Given the description of an element on the screen output the (x, y) to click on. 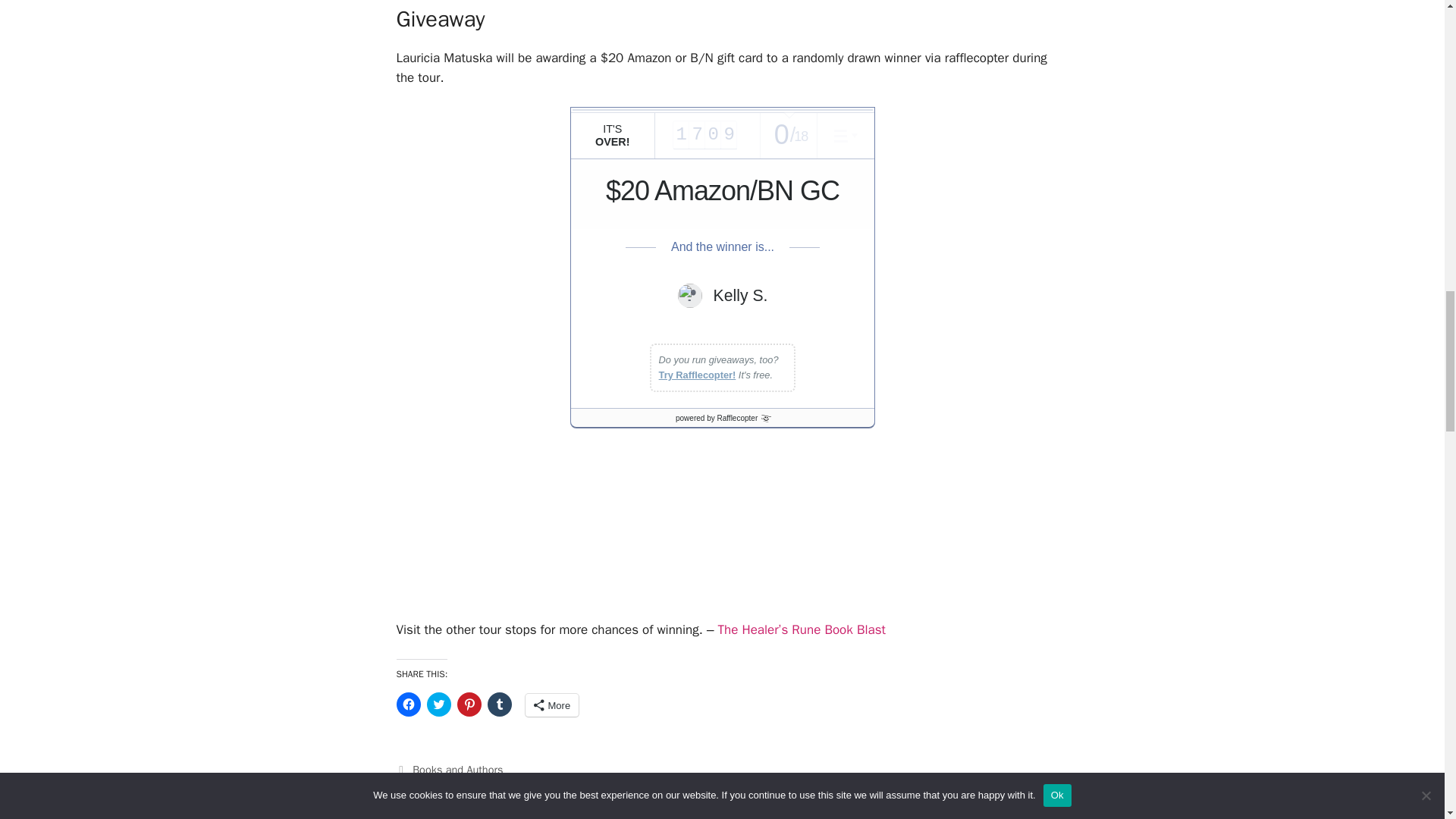
T-Shirt Thursday: Adorable Animals Edition! (514, 802)
Click to share on Tumblr (498, 704)
Click to share on Pinterest (468, 704)
Books and Authors (457, 769)
Click to share on Facebook (408, 704)
fantasy (552, 786)
blog tour (433, 786)
More (551, 704)
book spotlight (494, 786)
goddess fish promotions (690, 786)
Click to share on Twitter (437, 704)
Summer of Reading: 4th of July Giveaway (511, 815)
giveaways (600, 786)
